Given the description of an element on the screen output the (x, y) to click on. 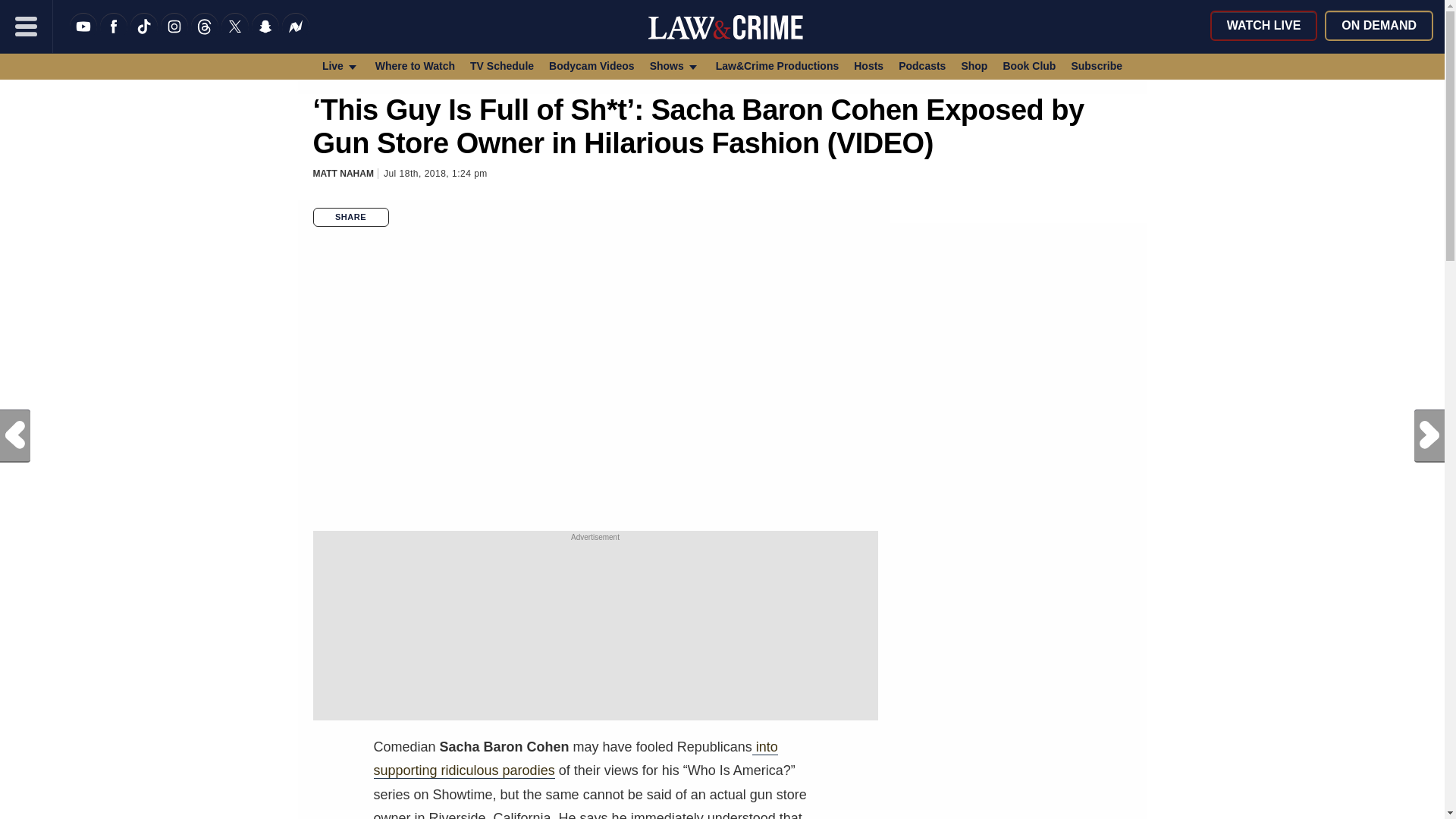
Like us on Facebook (114, 35)
TikTok (144, 35)
Posts by Matt Naham (342, 173)
News Break (295, 35)
Instagram (173, 35)
Threads (204, 35)
Snapchat (265, 35)
YouTube (83, 35)
